Given the description of an element on the screen output the (x, y) to click on. 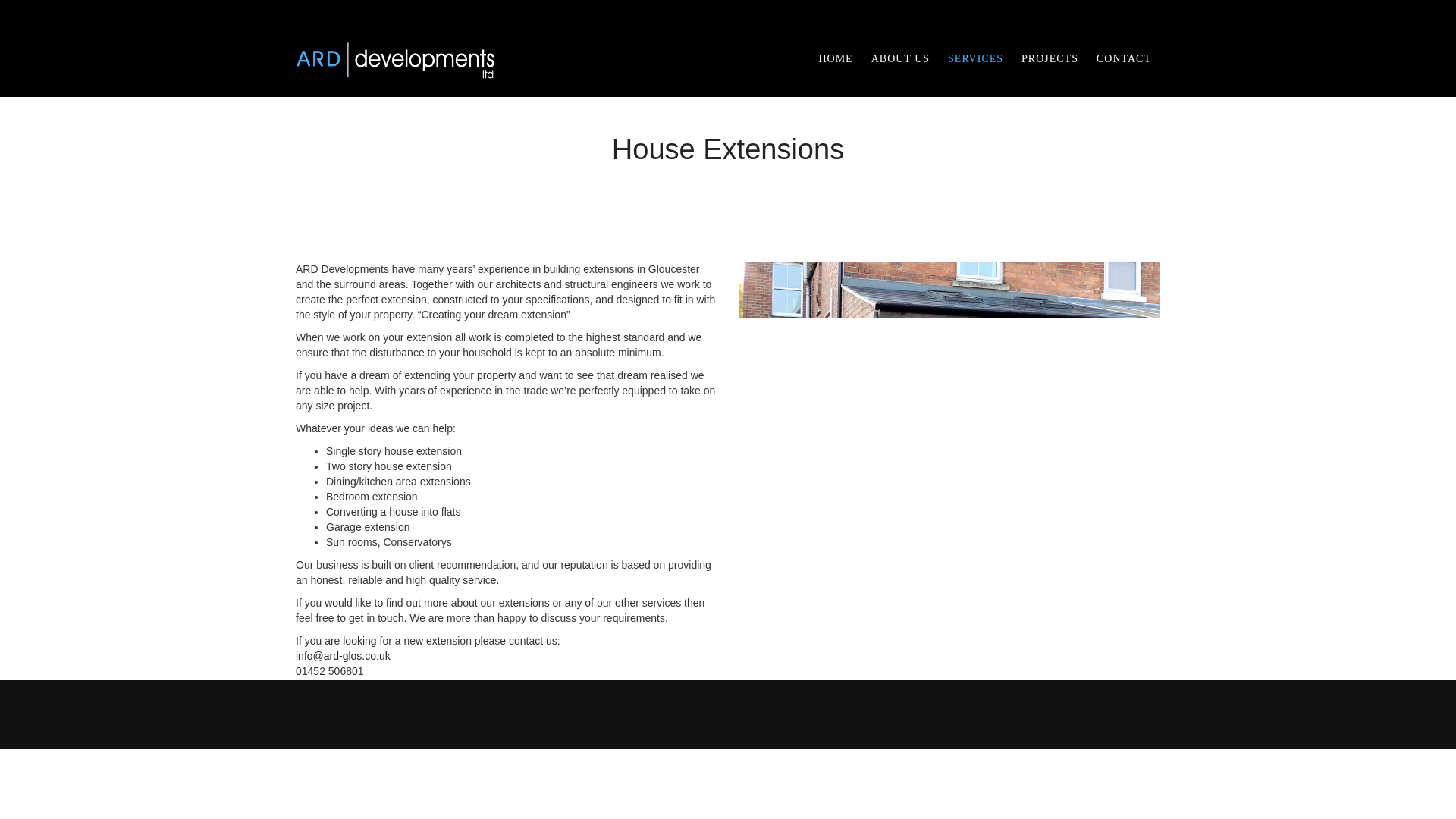
SERVICES (975, 59)
CONTACT (1123, 59)
ABOUT US (900, 59)
PROJECTS (1049, 59)
